Given the description of an element on the screen output the (x, y) to click on. 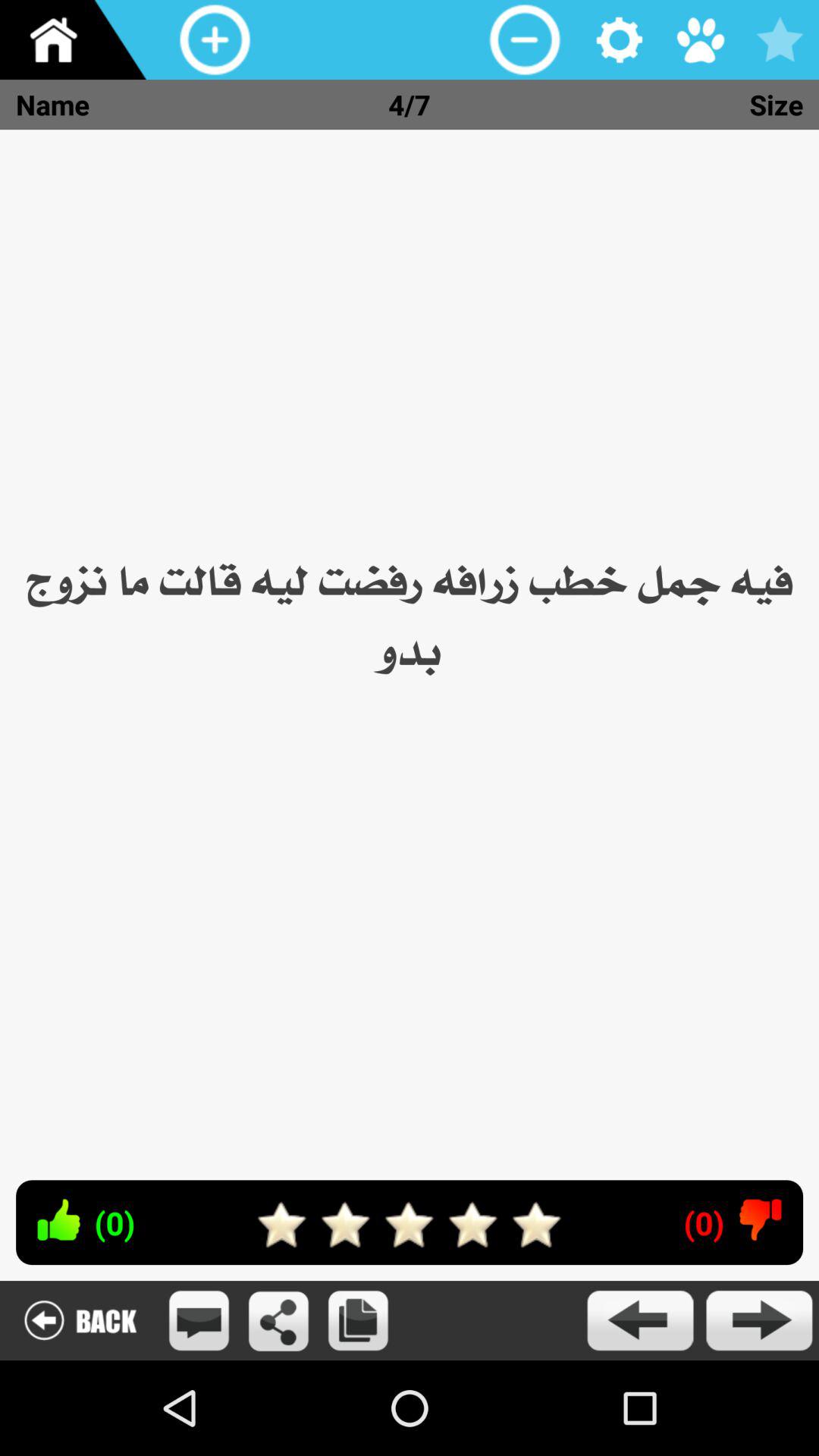
share the page (278, 1320)
